Given the description of an element on the screen output the (x, y) to click on. 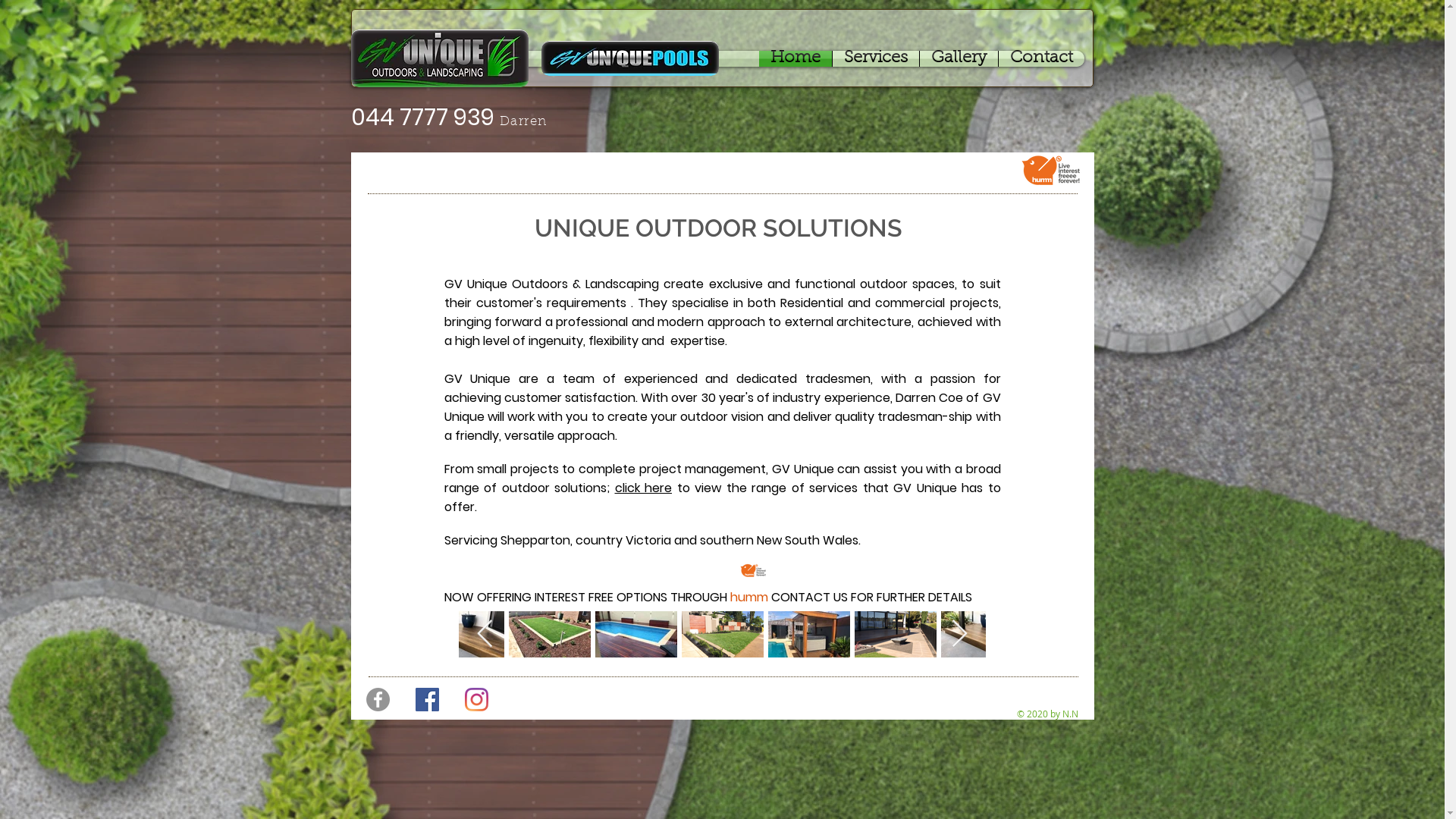
Contact Element type: text (1040, 58)
Home Element type: text (794, 58)
click here Element type: text (642, 487)
Landscaping Element type: text (621, 283)
Gallery Element type: text (958, 58)
Services Element type: text (875, 58)
044 7777 939 Darren   Element type: text (452, 119)
